Given the description of an element on the screen output the (x, y) to click on. 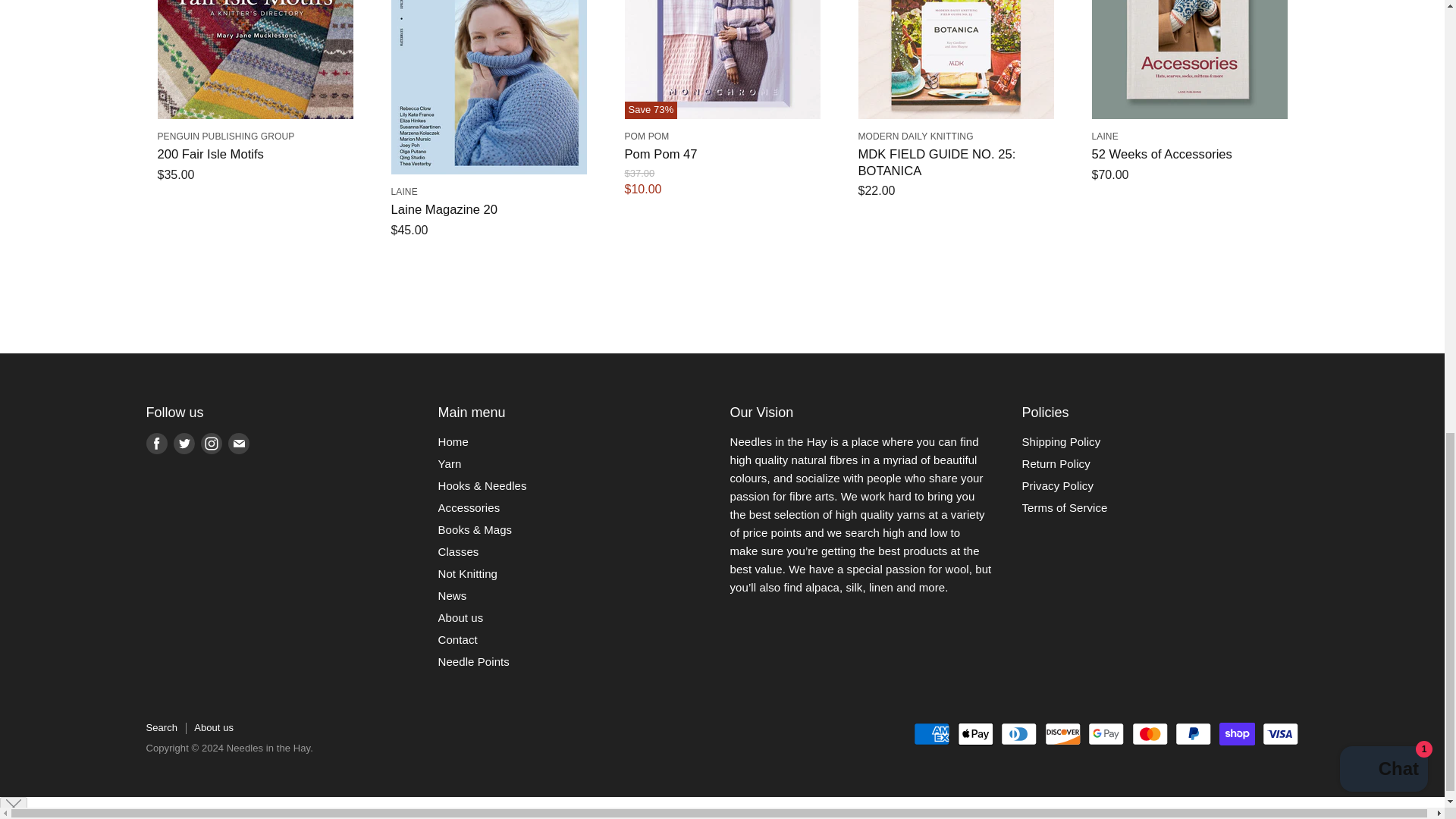
Instagram (210, 443)
Twitter (183, 443)
Facebook (156, 443)
E-mail (237, 443)
